Given the description of an element on the screen output the (x, y) to click on. 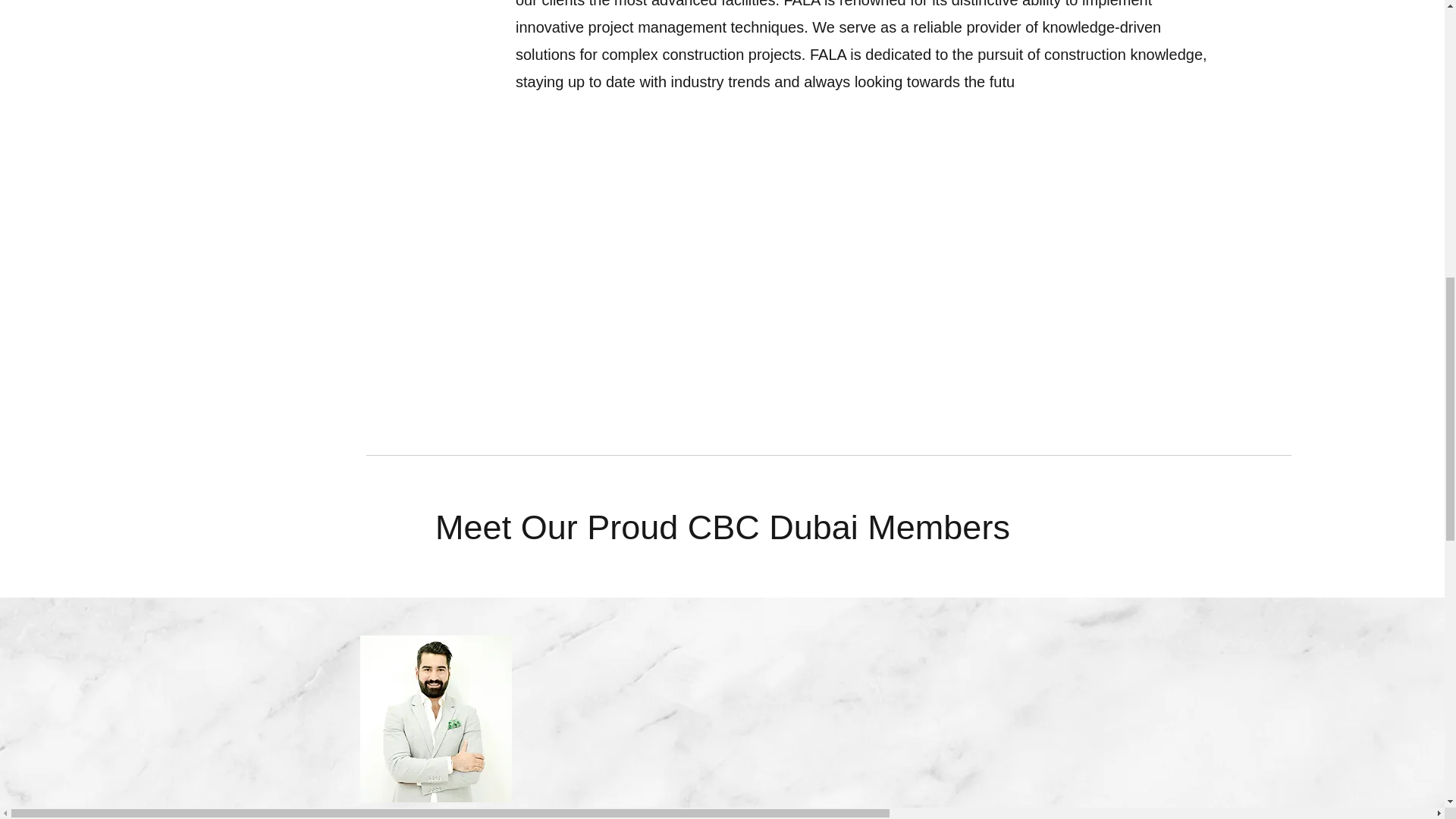
Mr. Hani photo.jpg (435, 718)
